Given the description of an element on the screen output the (x, y) to click on. 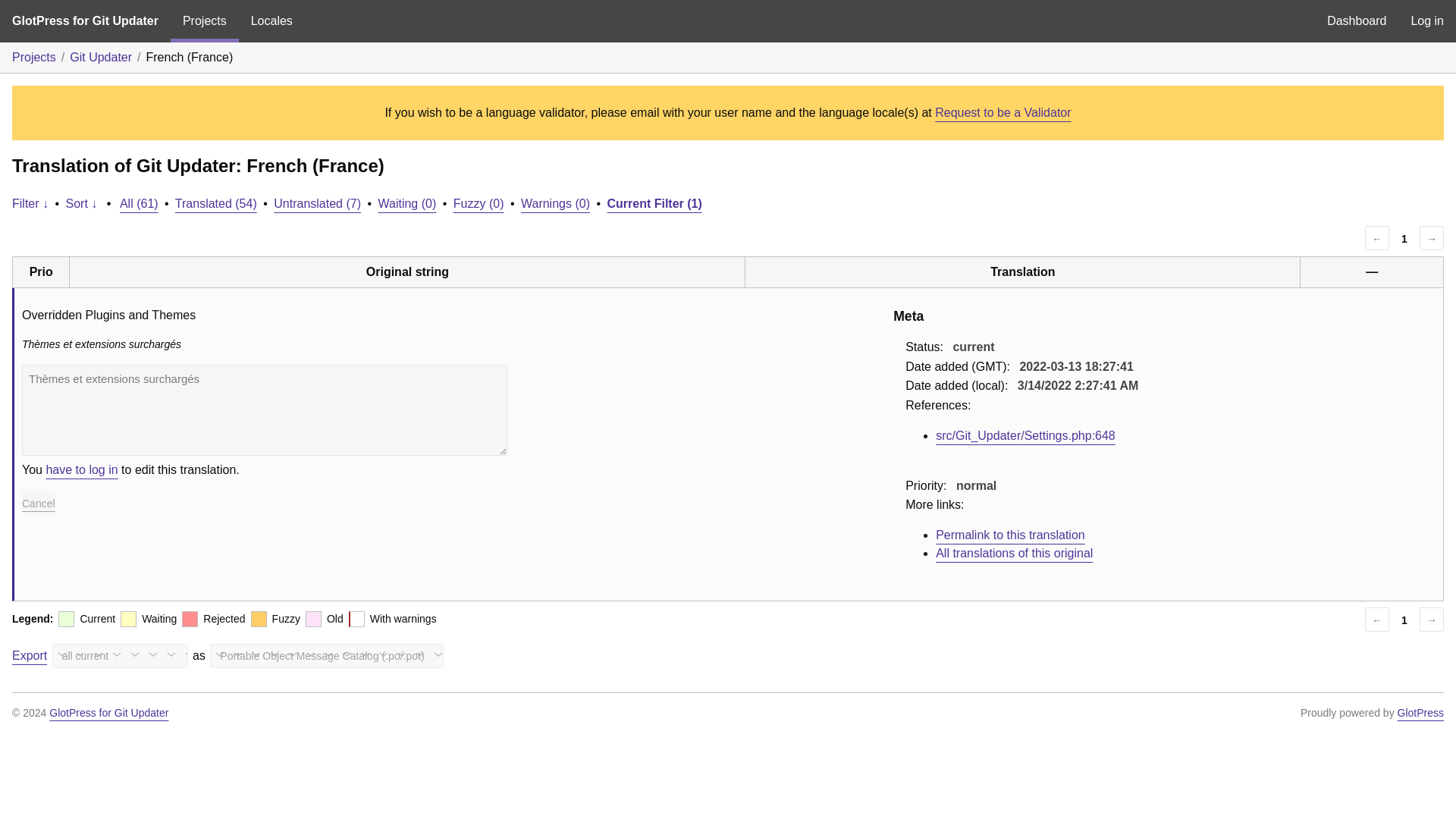
GlotPress (1420, 712)
have to log in (81, 469)
GlotPress for Git Updater (108, 712)
Dashboard (1355, 21)
Permalink to this translation (1010, 534)
Export (28, 656)
Projects (33, 56)
Locales (271, 21)
All translations of this original (1014, 553)
Cancel (38, 503)
GlotPress for Git Updater (85, 21)
Git Updater (100, 56)
Request to be a Validator (1002, 112)
Projects (204, 21)
